Given the description of an element on the screen output the (x, y) to click on. 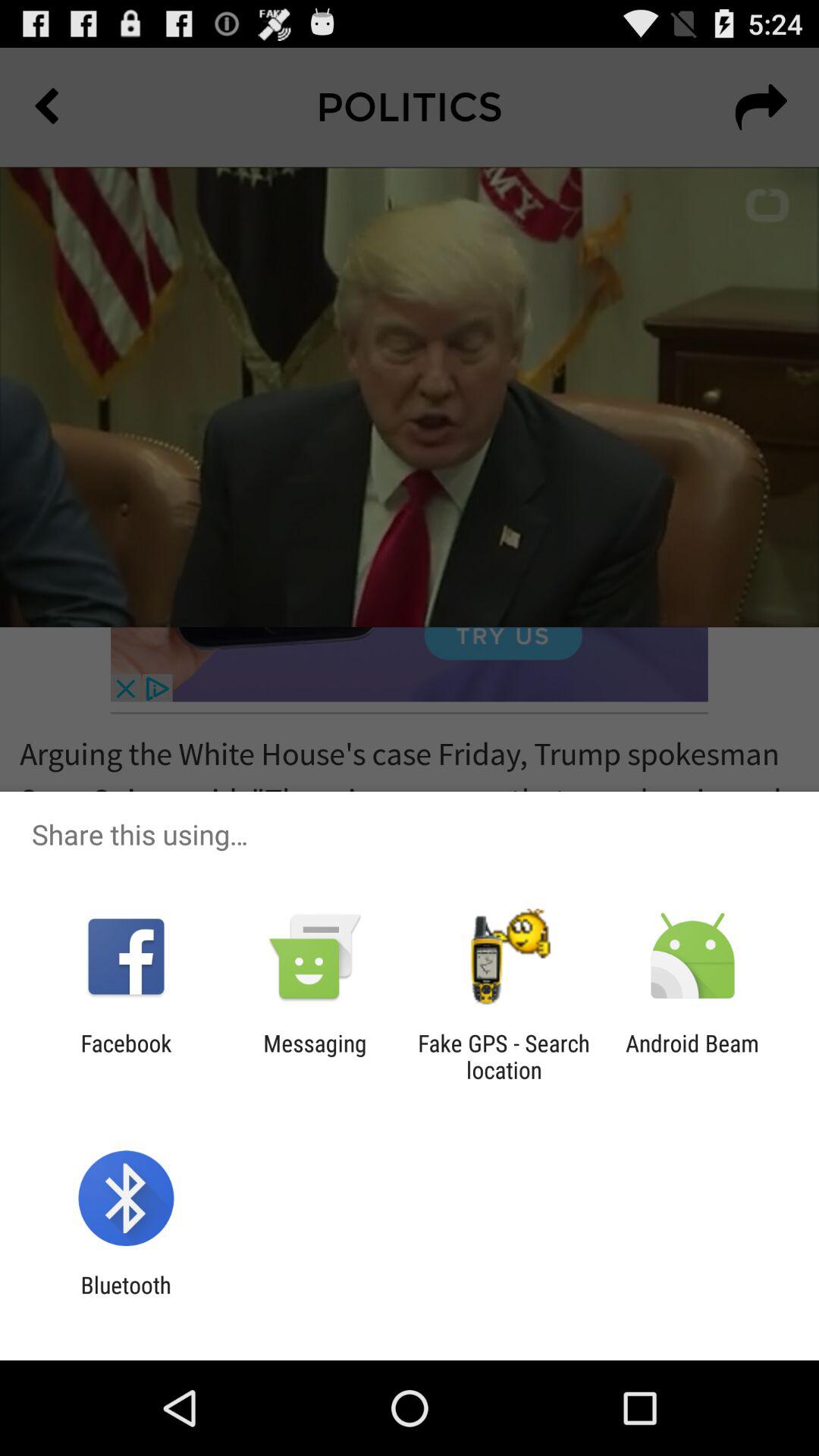
turn on the item at the bottom right corner (692, 1056)
